Given the description of an element on the screen output the (x, y) to click on. 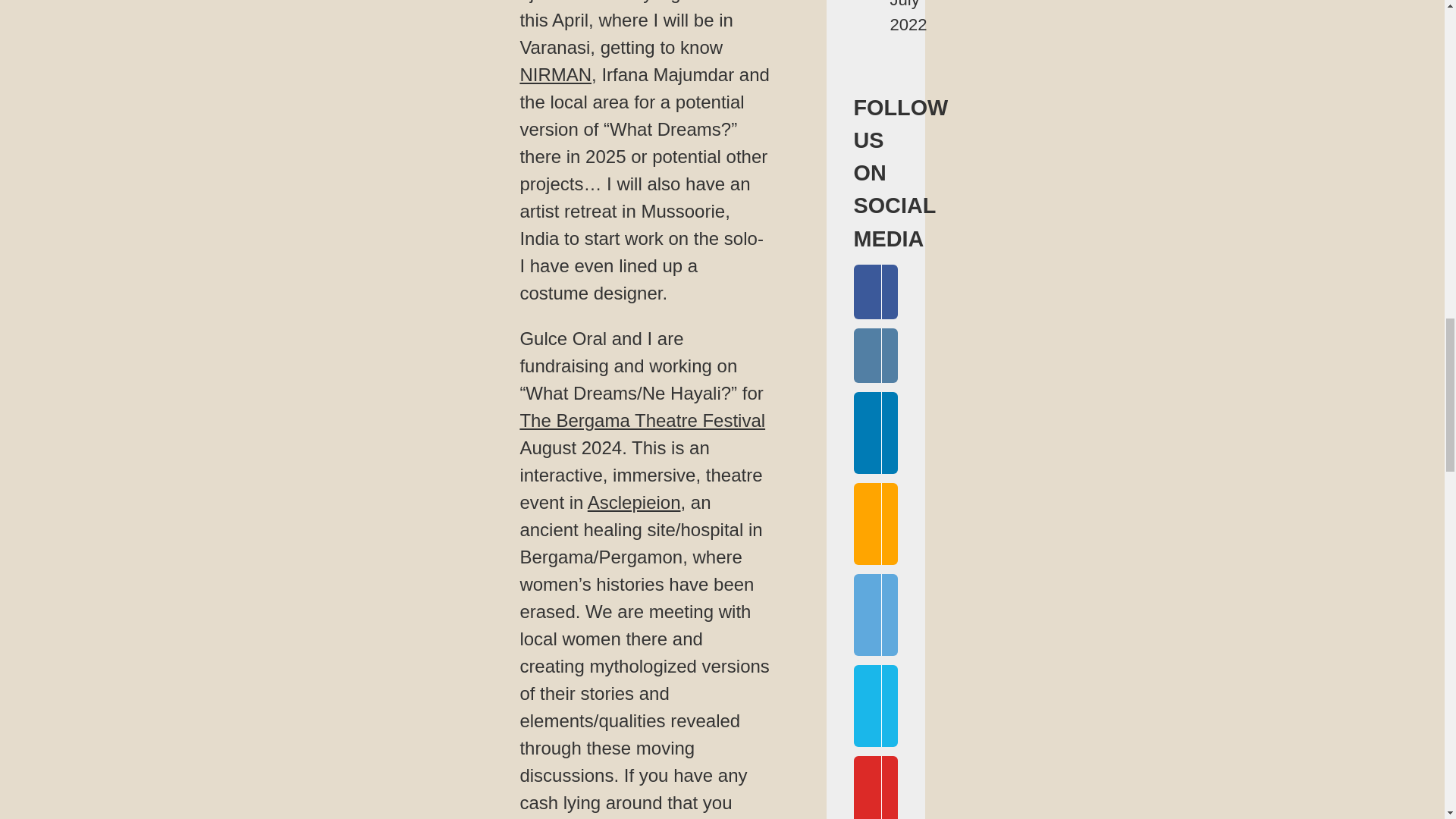
NIRMAN (555, 74)
Asclepieion (634, 502)
The Bergama Theatre Festival (642, 420)
